Given the description of an element on the screen output the (x, y) to click on. 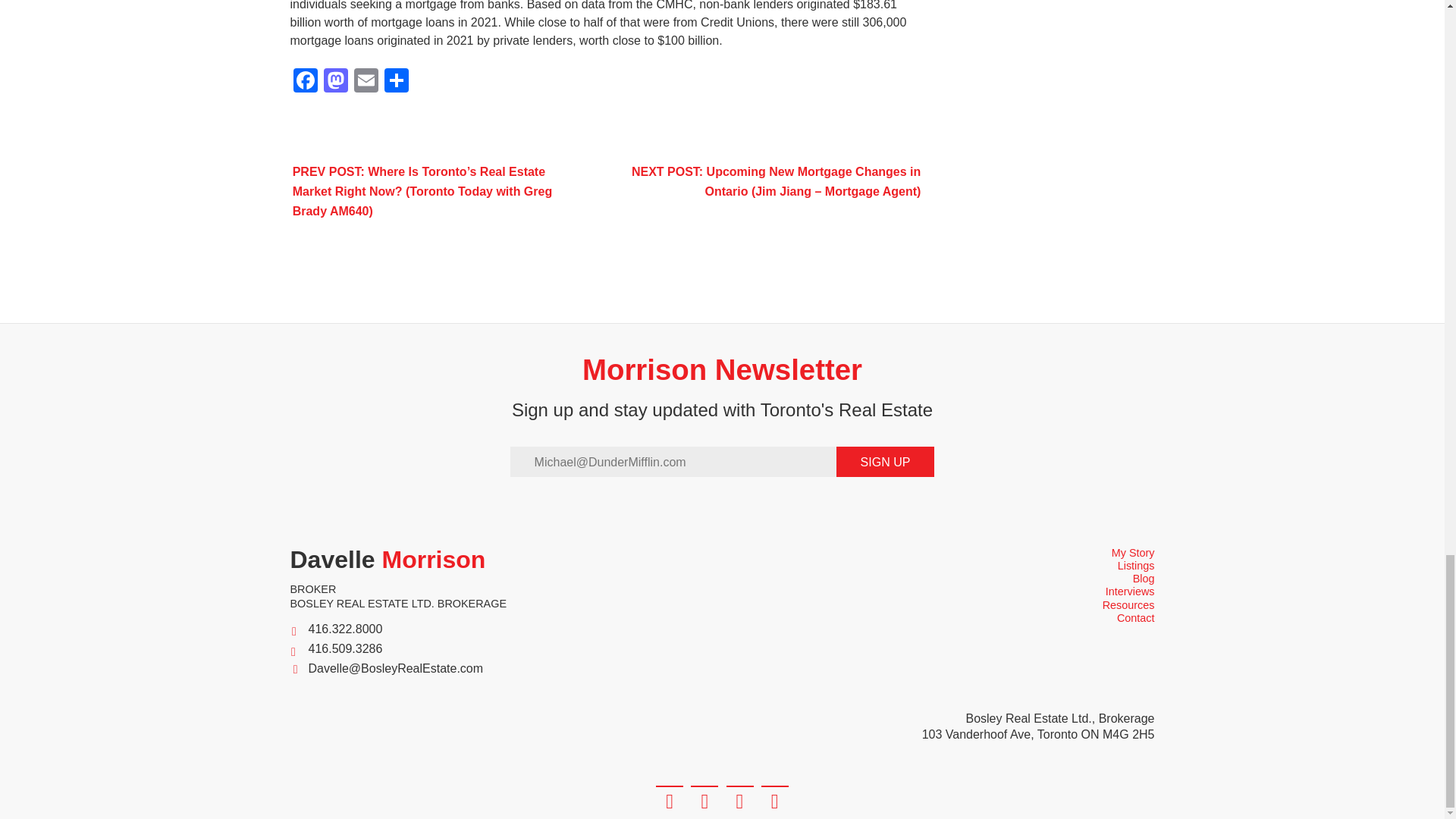
Email (365, 81)
Facebook (304, 81)
Mastodon (335, 81)
SIGN UP (884, 461)
